Given the description of an element on the screen output the (x, y) to click on. 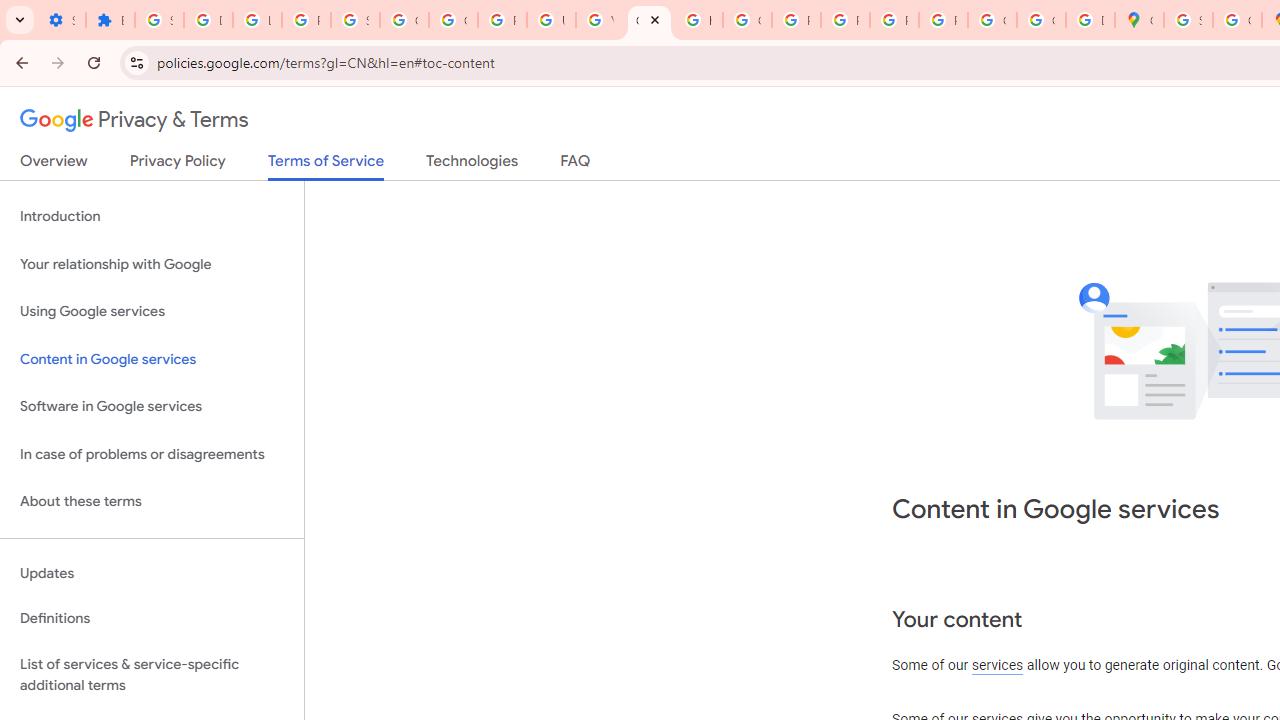
Your relationship with Google (152, 263)
Definitions (152, 619)
